Given the description of an element on the screen output the (x, y) to click on. 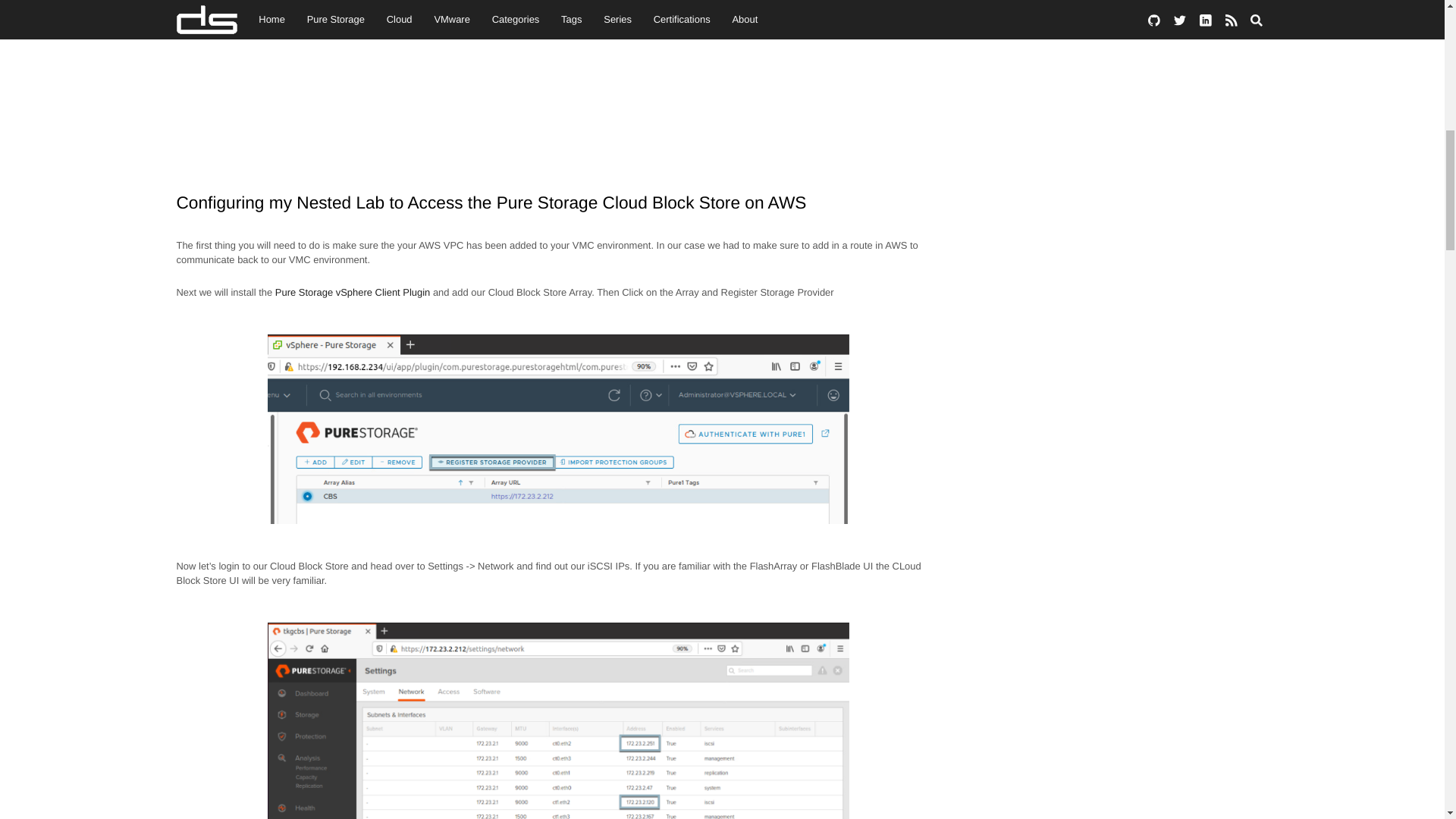
Pure Storage vSphere Client Plugin (352, 292)
YouTube Video (558, 79)
